Given the description of an element on the screen output the (x, y) to click on. 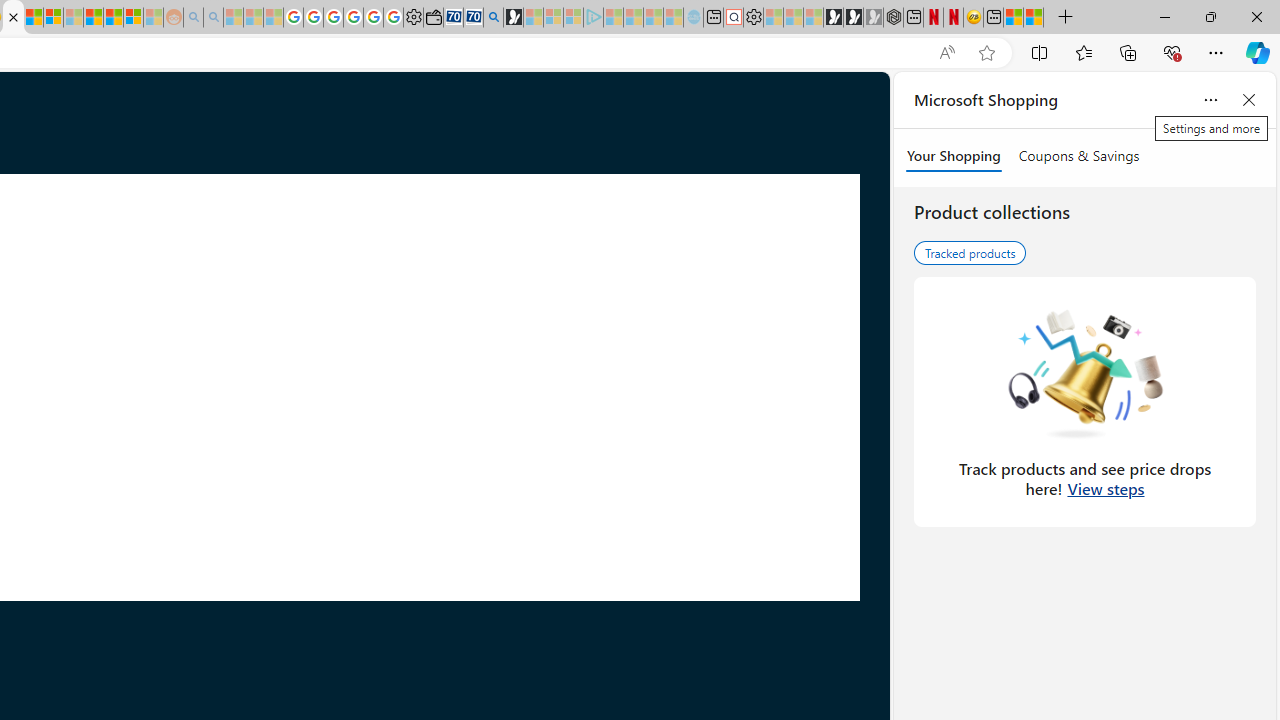
Microsoft Start Gaming (513, 17)
Wildlife - MSN (1012, 17)
Home | Sky Blue Bikes - Sky Blue Bikes - Sleeping (692, 17)
